Given the description of an element on the screen output the (x, y) to click on. 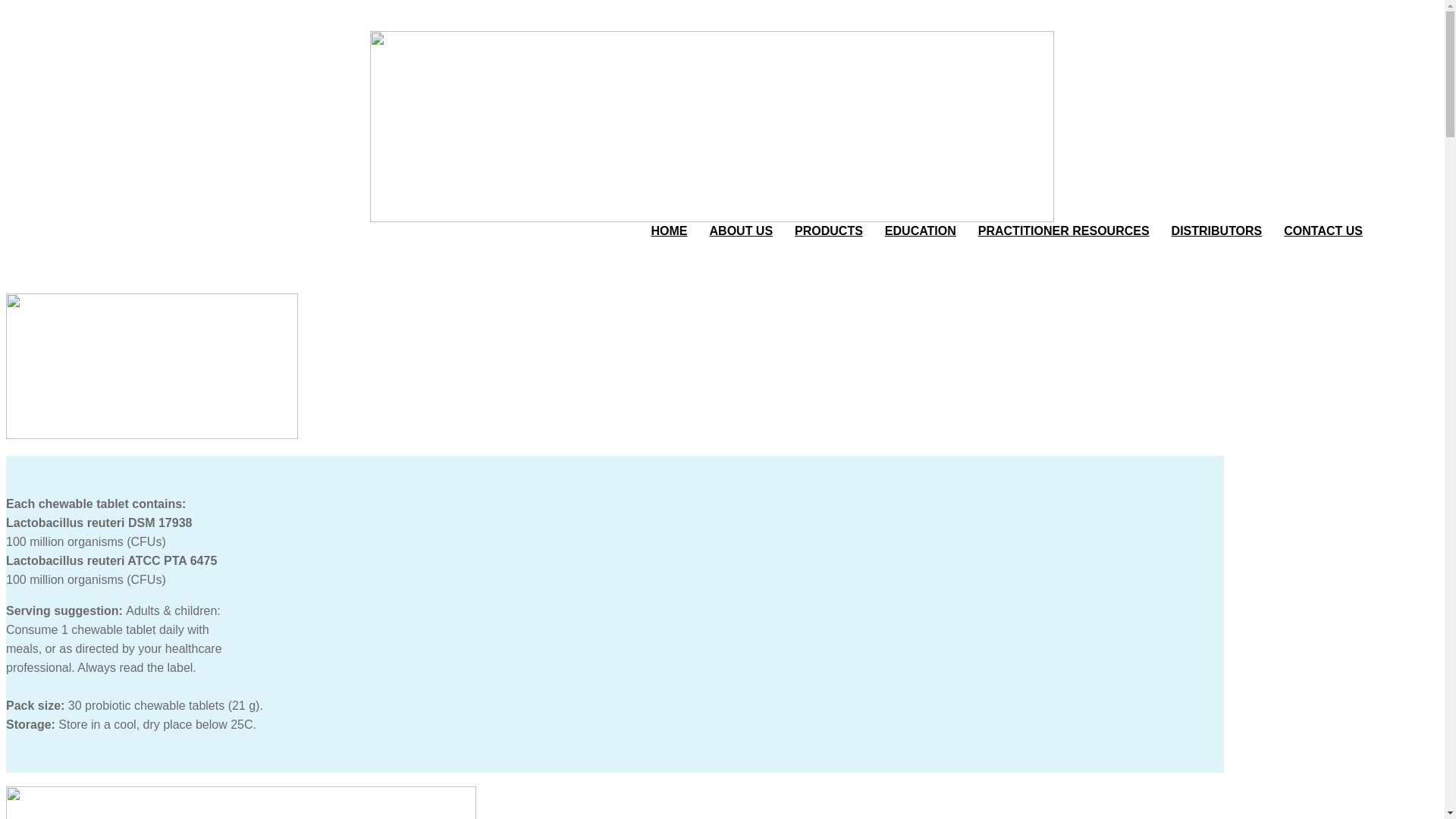
PRACTITIONER RESOURCES Element type: text (1063, 230)
ABOUT US Element type: text (741, 230)
HOME Element type: text (669, 230)
CONTACT US Element type: text (1322, 230)
PRODUCTS Element type: text (828, 230)
DISTRIBUTORS Element type: text (1216, 230)
EDUCATION Element type: text (920, 230)
